Given the description of an element on the screen output the (x, y) to click on. 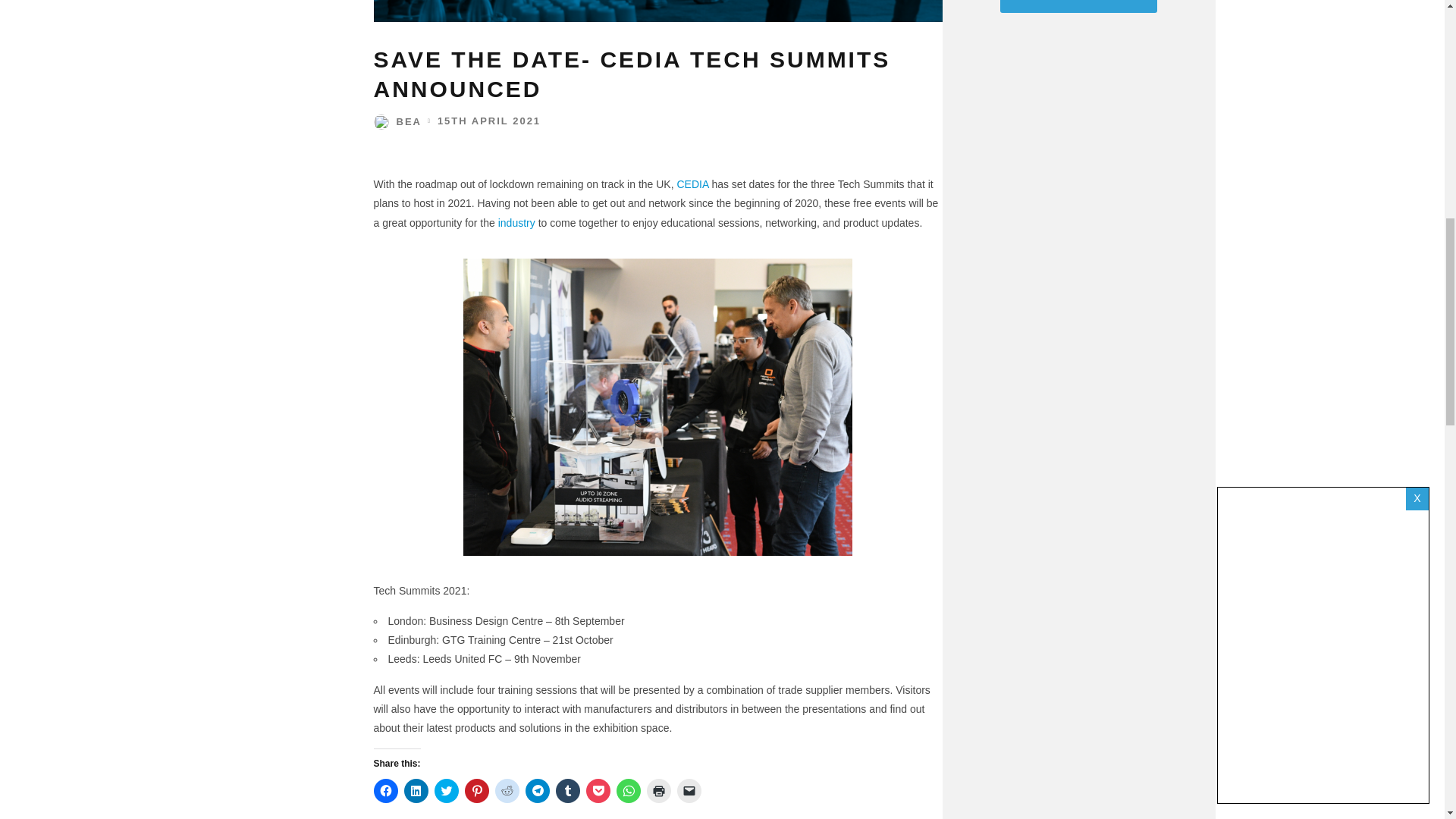
Click to share on Twitter (445, 790)
Click to share on Pinterest (475, 790)
Click to share on Facebook (384, 790)
Click to share on LinkedIn (415, 790)
Click to share on Telegram (536, 790)
Click to share on Reddit (506, 790)
